Given the description of an element on the screen output the (x, y) to click on. 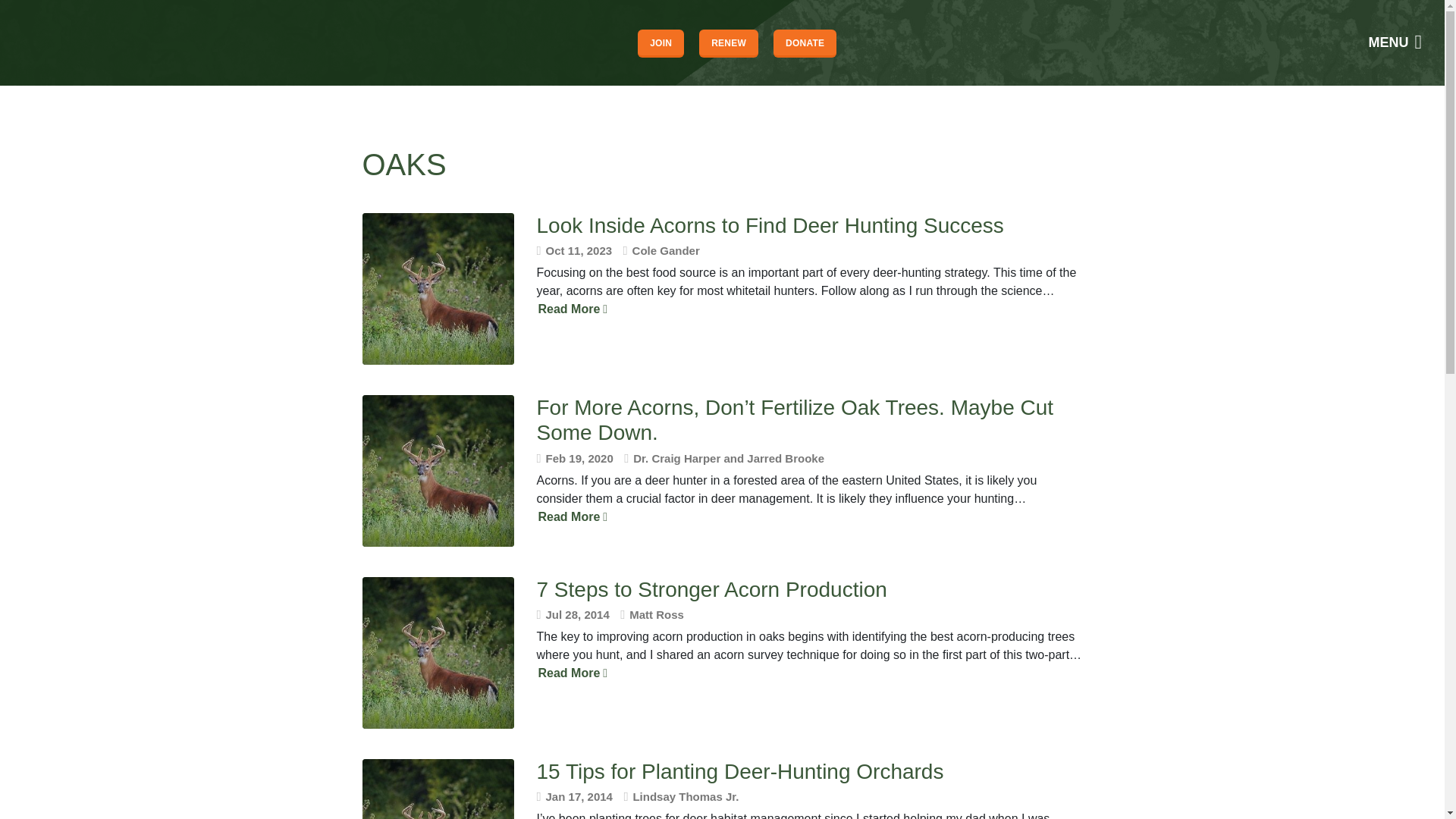
NDA Logo White (63, 42)
RENEW (728, 43)
JOIN (660, 43)
DONATE (804, 43)
